Given the description of an element on the screen output the (x, y) to click on. 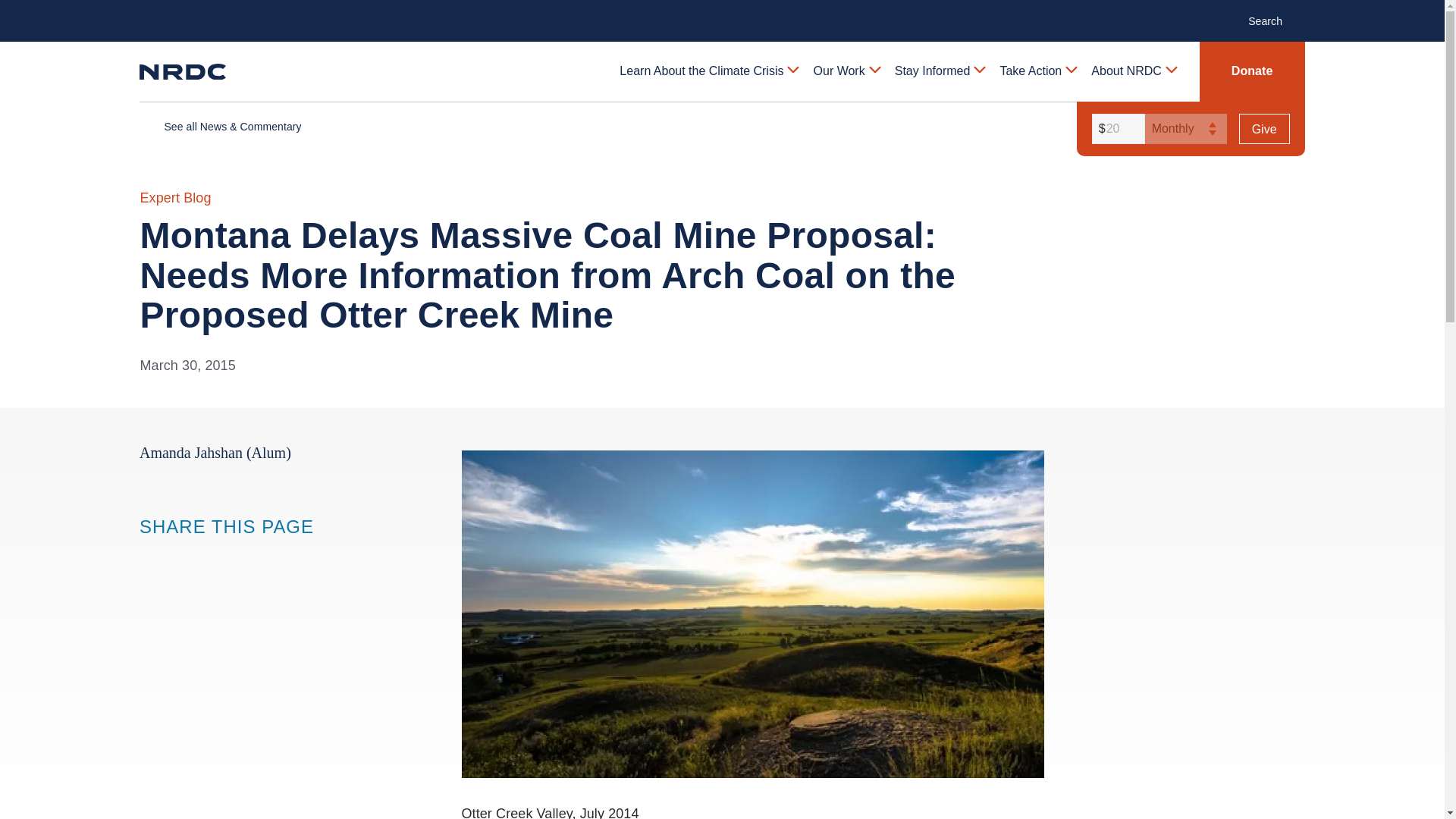
Share this page block (180, 555)
Share this page block (149, 555)
20 (1116, 128)
Learn About the Climate Crisis (707, 71)
Stay Informed (939, 71)
Search (1272, 19)
Share this page block (210, 555)
Skip to main content (721, 12)
Take Action (1036, 71)
Our Work (846, 71)
